Given the description of an element on the screen output the (x, y) to click on. 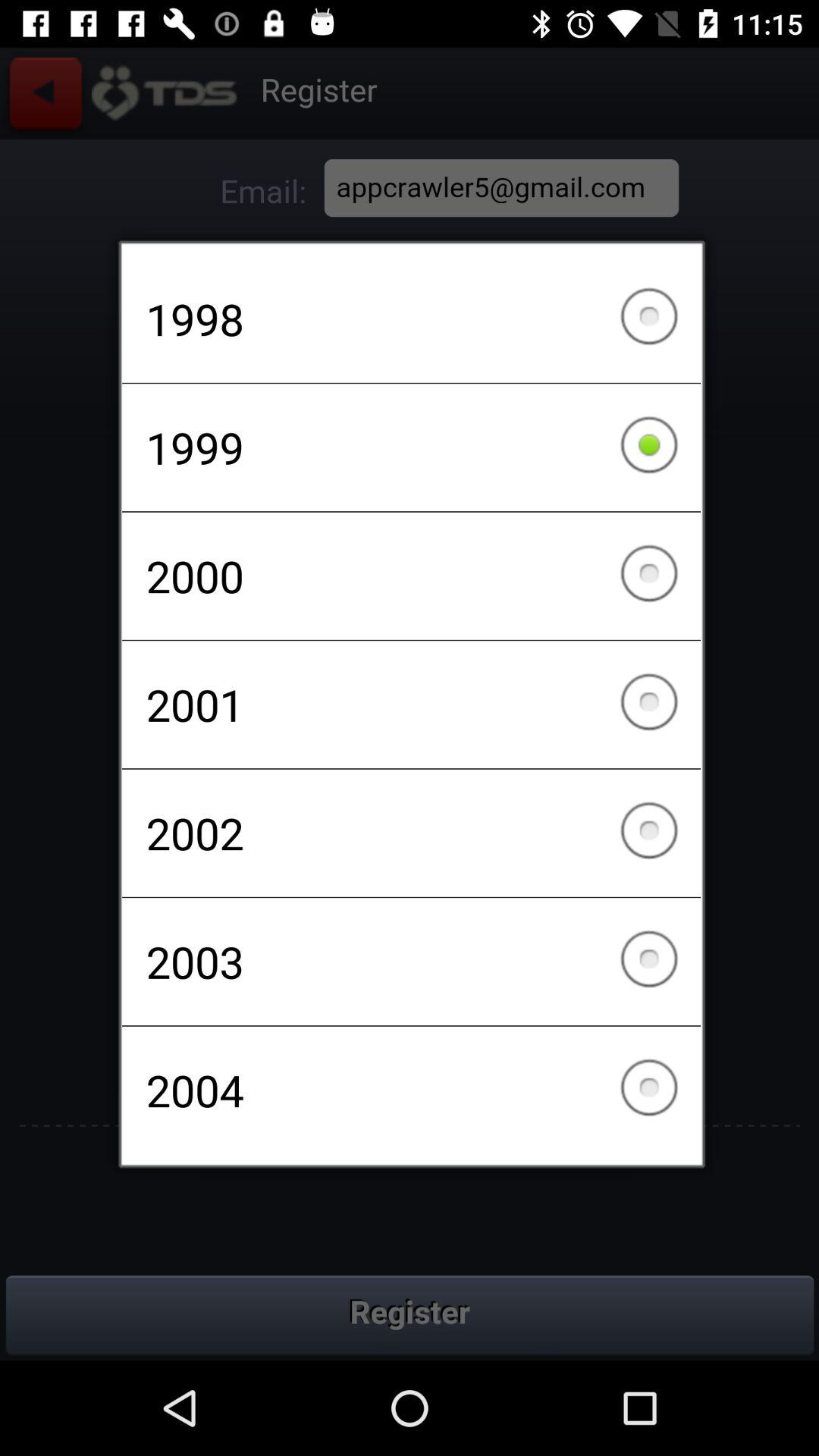
scroll until the 1998 icon (411, 318)
